Given the description of an element on the screen output the (x, y) to click on. 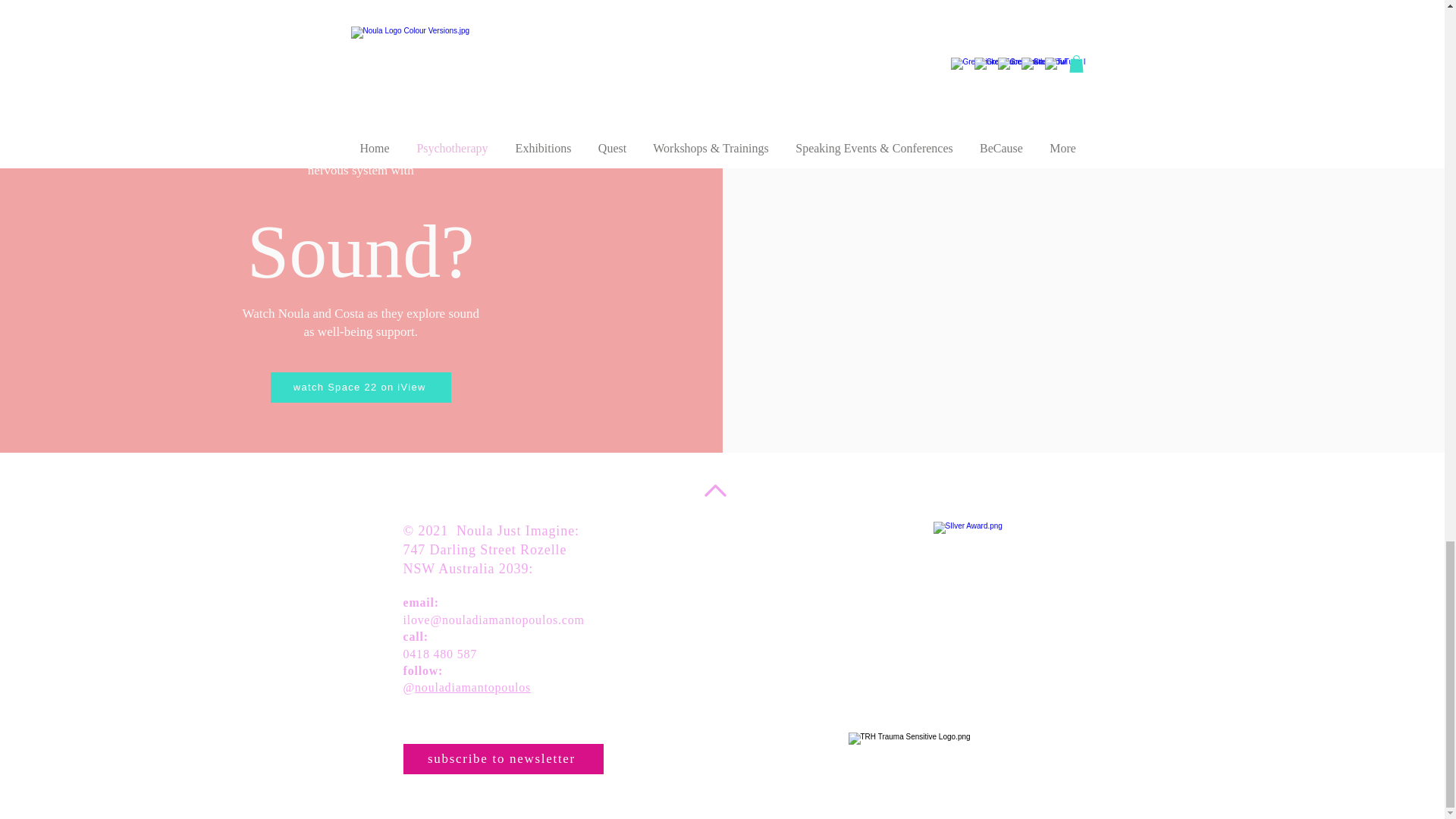
watch Space 22 on iView (360, 387)
subscribe to newsletter (503, 758)
nouladiamantopoulos (472, 686)
SERVICES FOR THERAPISTS (912, 64)
